Given the description of an element on the screen output the (x, y) to click on. 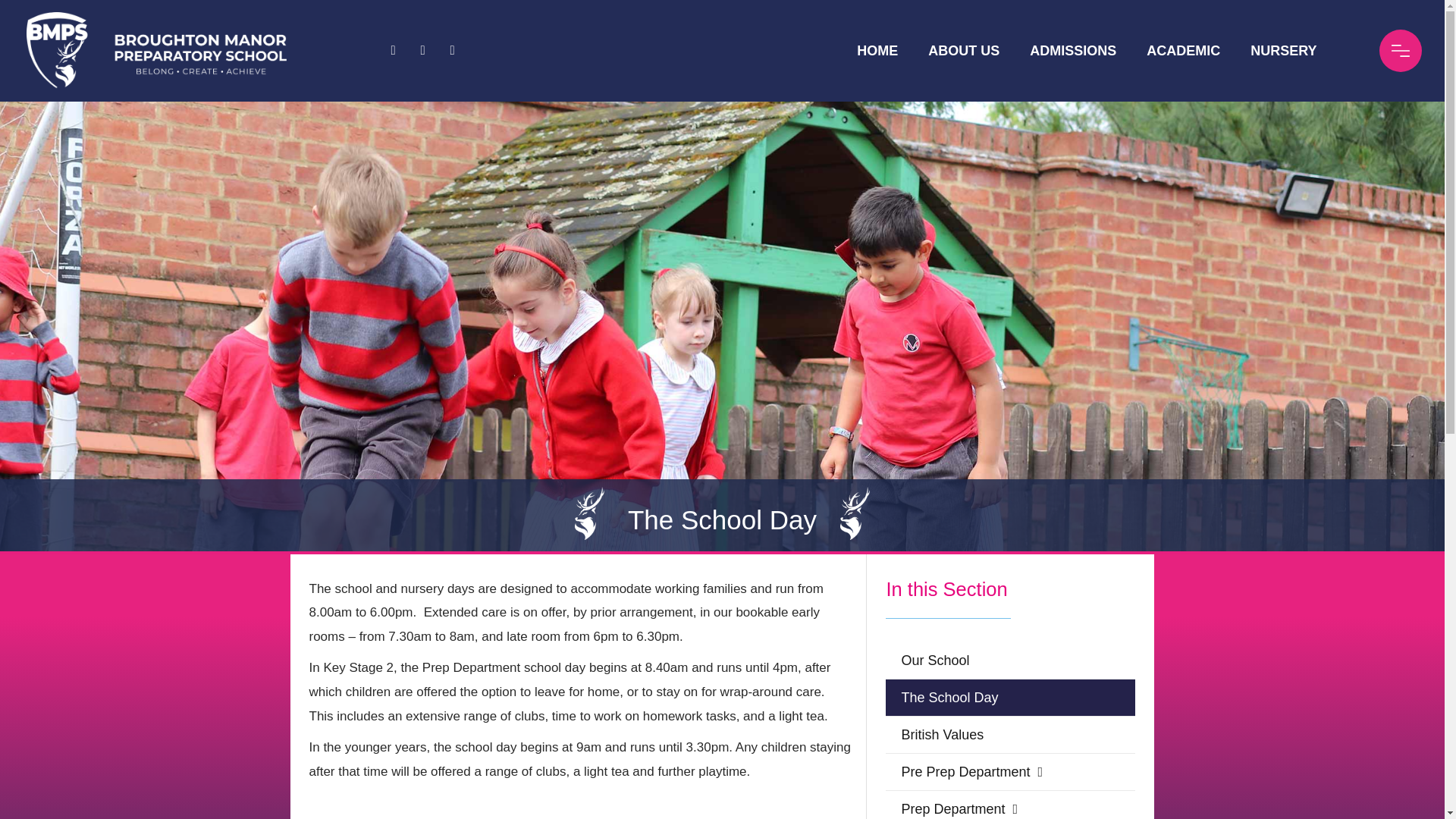
NURSERY (1283, 50)
ABOUT US (963, 50)
ACADEMIC (1182, 50)
Facebook-f (393, 50)
Instagram (452, 50)
Twitter (422, 50)
ADMISSIONS (1072, 50)
HOME (876, 50)
